Given the description of an element on the screen output the (x, y) to click on. 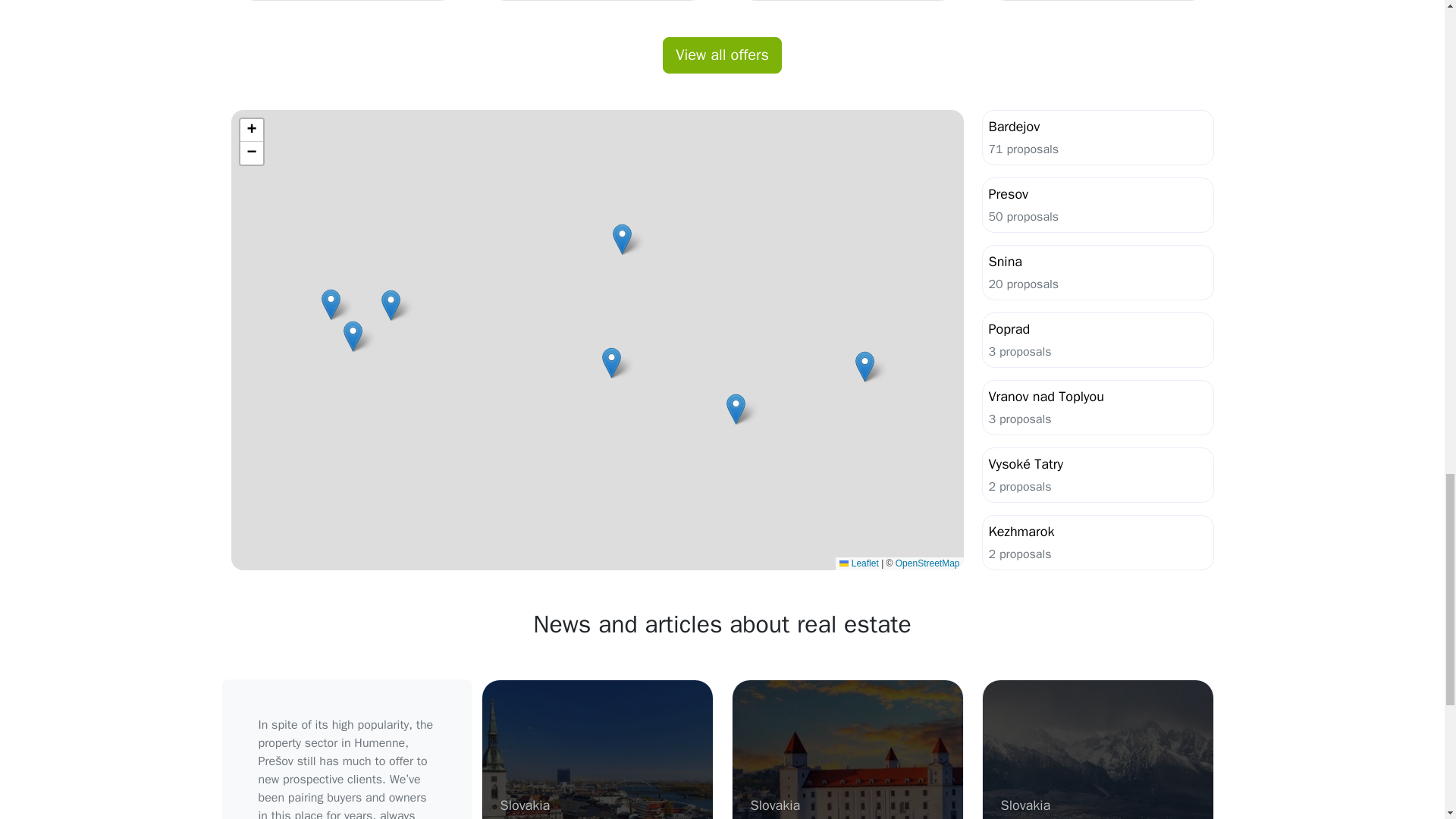
Zoom out (251, 152)
Zoom in (251, 129)
A JavaScript library for interactive maps (858, 562)
